Given the description of an element on the screen output the (x, y) to click on. 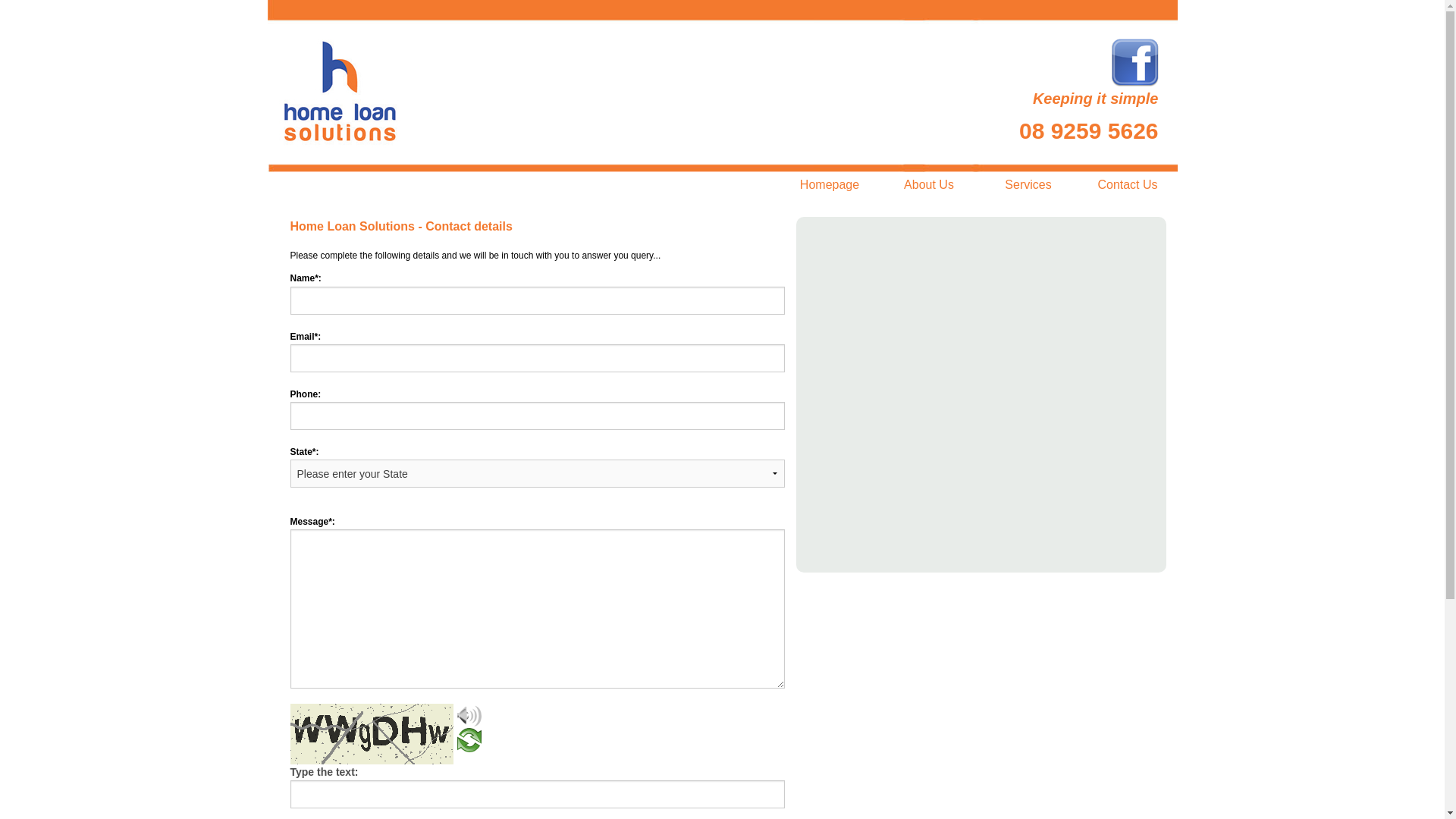
Contact Us Element type: text (1127, 184)
Homepage Element type: text (829, 184)
Refresh Image Element type: hover (468, 746)
Services Element type: text (1027, 184)
About Us Element type: text (929, 184)
